Given the description of an element on the screen output the (x, y) to click on. 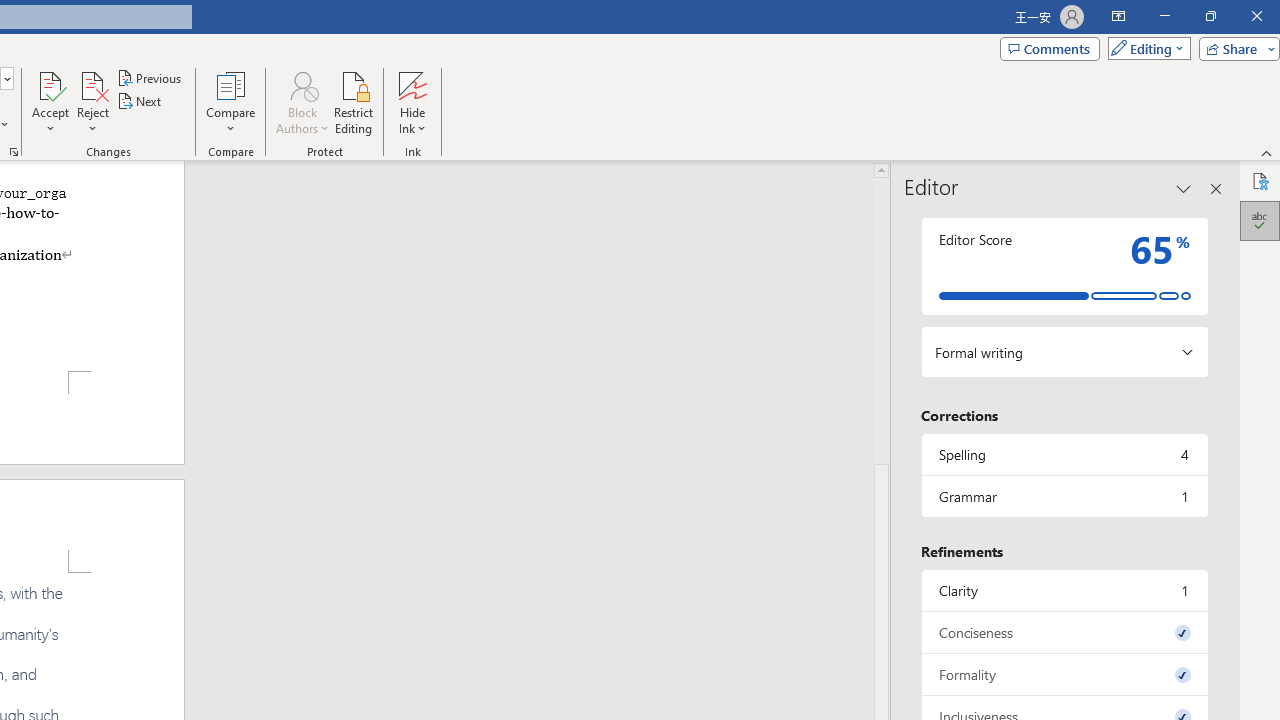
Hide Ink (412, 84)
Reject (92, 102)
Formality, 0 issues. Press space or enter to review items. (1064, 673)
Accept (50, 102)
Reject and Move to Next (92, 84)
Compare (230, 102)
Next (140, 101)
Grammar, 1 issue. Press space or enter to review items. (1064, 495)
Restrict Editing (353, 102)
Previous (150, 78)
Conciseness, 0 issues. Press space or enter to review items. (1064, 632)
